Given the description of an element on the screen output the (x, y) to click on. 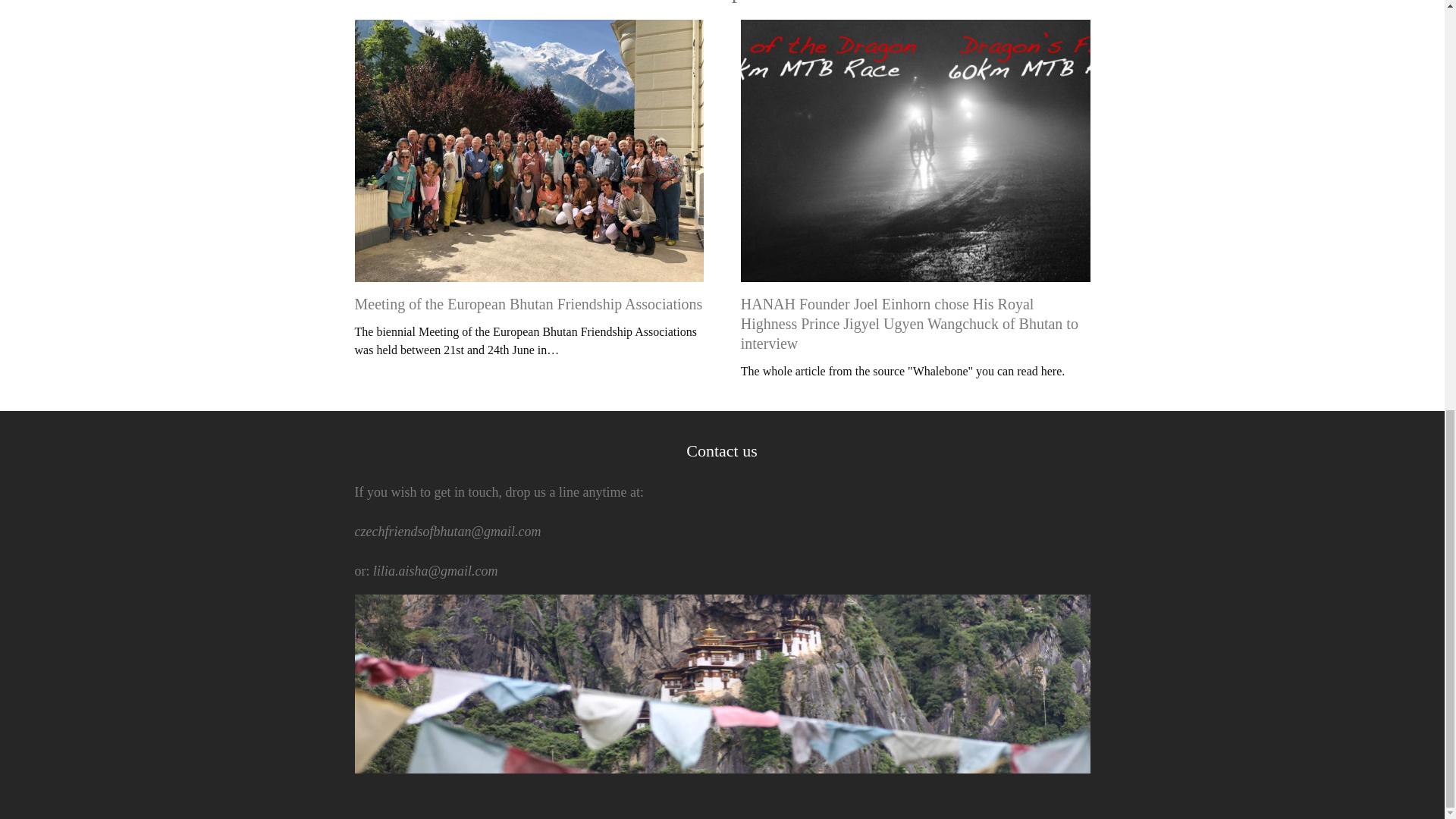
Meeting of the European Bhutan Friendship Associations (529, 303)
